Given the description of an element on the screen output the (x, y) to click on. 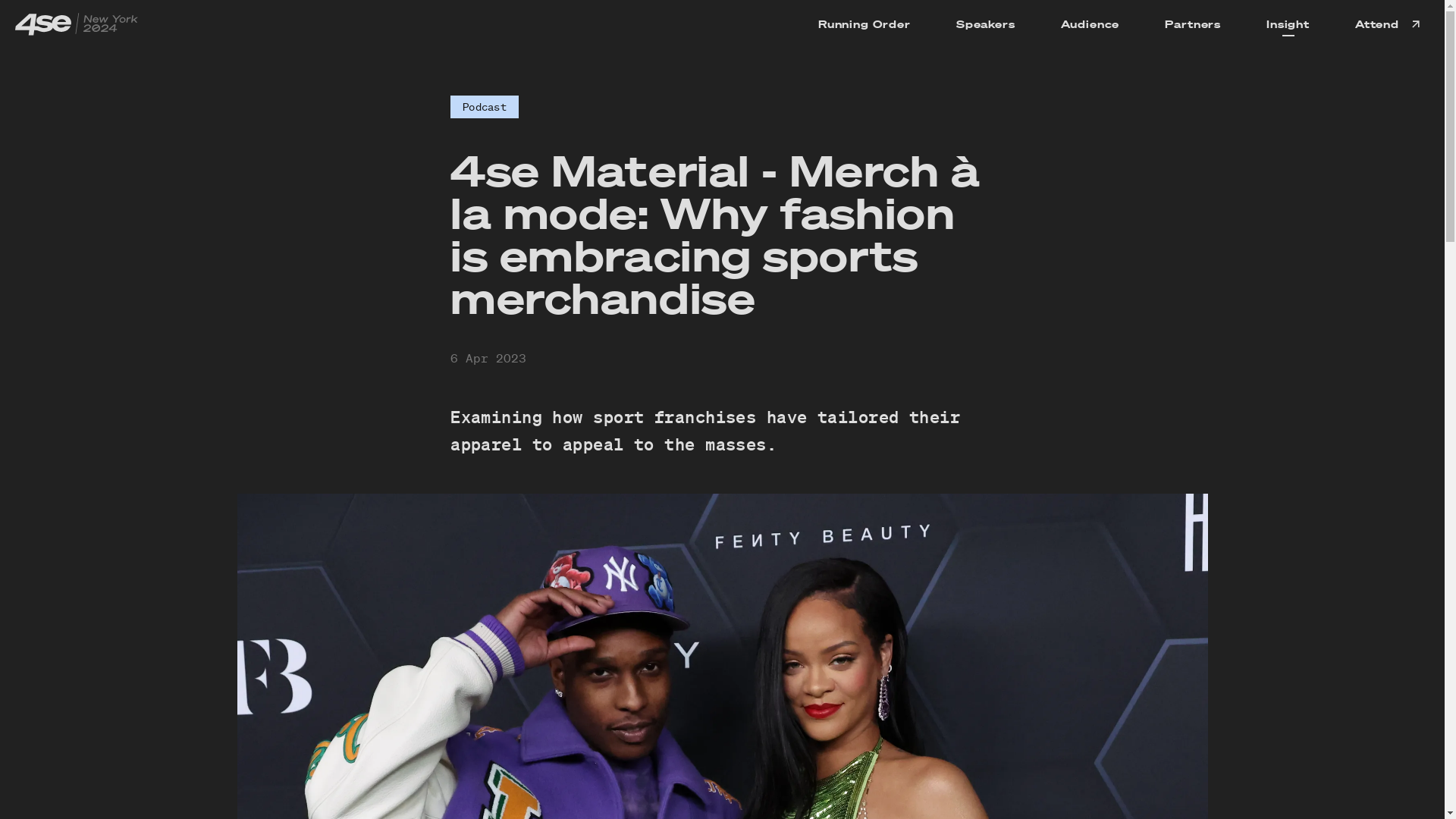
Speakers Element type: text (985, 24)
Attend Element type: text (1388, 24)
Running Order Element type: text (864, 24)
Insight Element type: text (1287, 24)
Audience Element type: text (1090, 24)
Partners Element type: text (1192, 24)
